Given the description of an element on the screen output the (x, y) to click on. 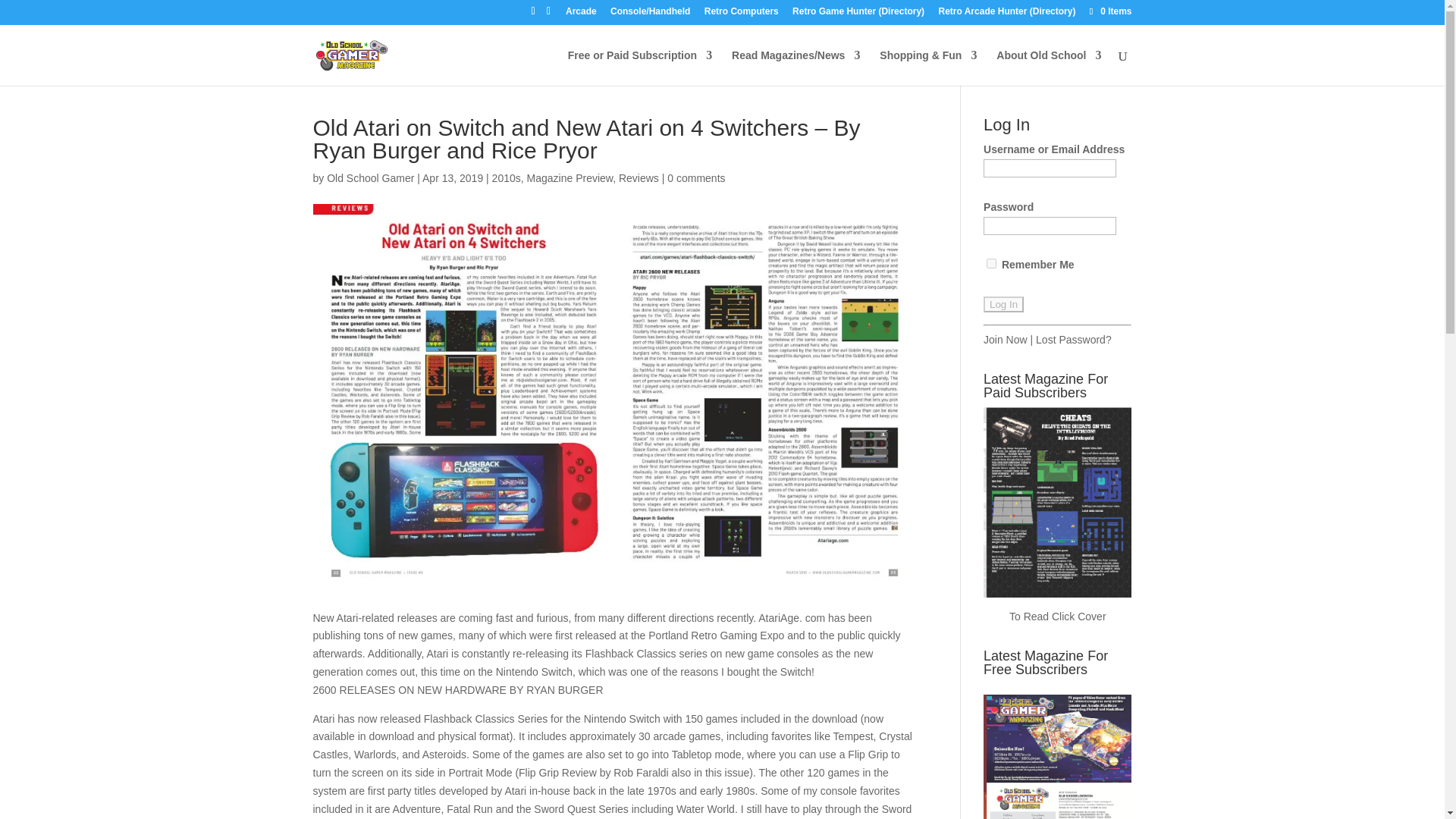
Posts by Old School Gamer (369, 177)
Log In (1003, 304)
forever (991, 263)
Retro Computers (741, 14)
Arcade (581, 14)
About Old School (1047, 67)
0 Items (1108, 10)
Page 22 (614, 714)
Free or Paid Subscription (639, 67)
